Given the description of an element on the screen output the (x, y) to click on. 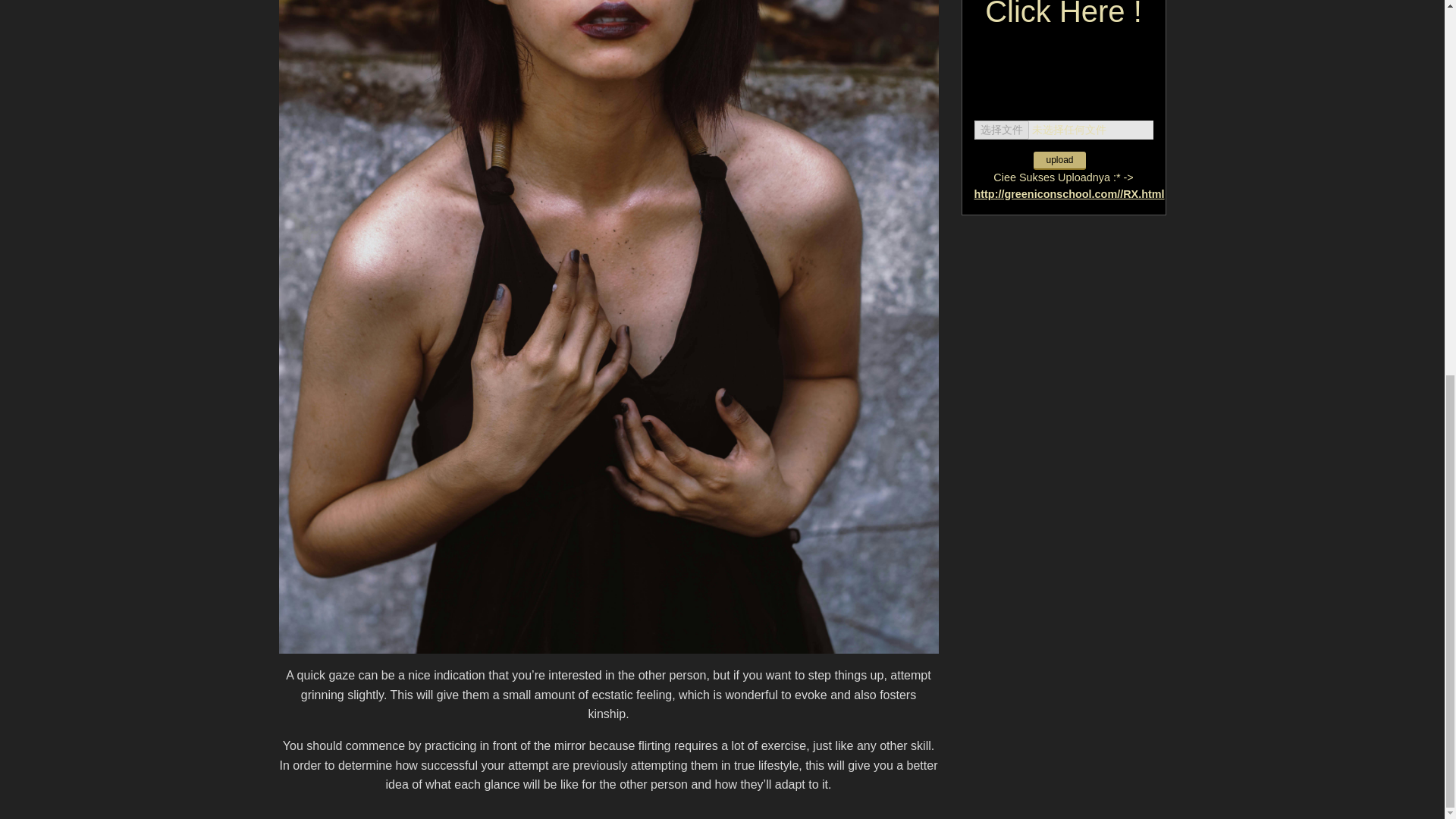
Click Here ! (1063, 26)
upload (1058, 160)
upload (1058, 160)
